Given the description of an element on the screen output the (x, y) to click on. 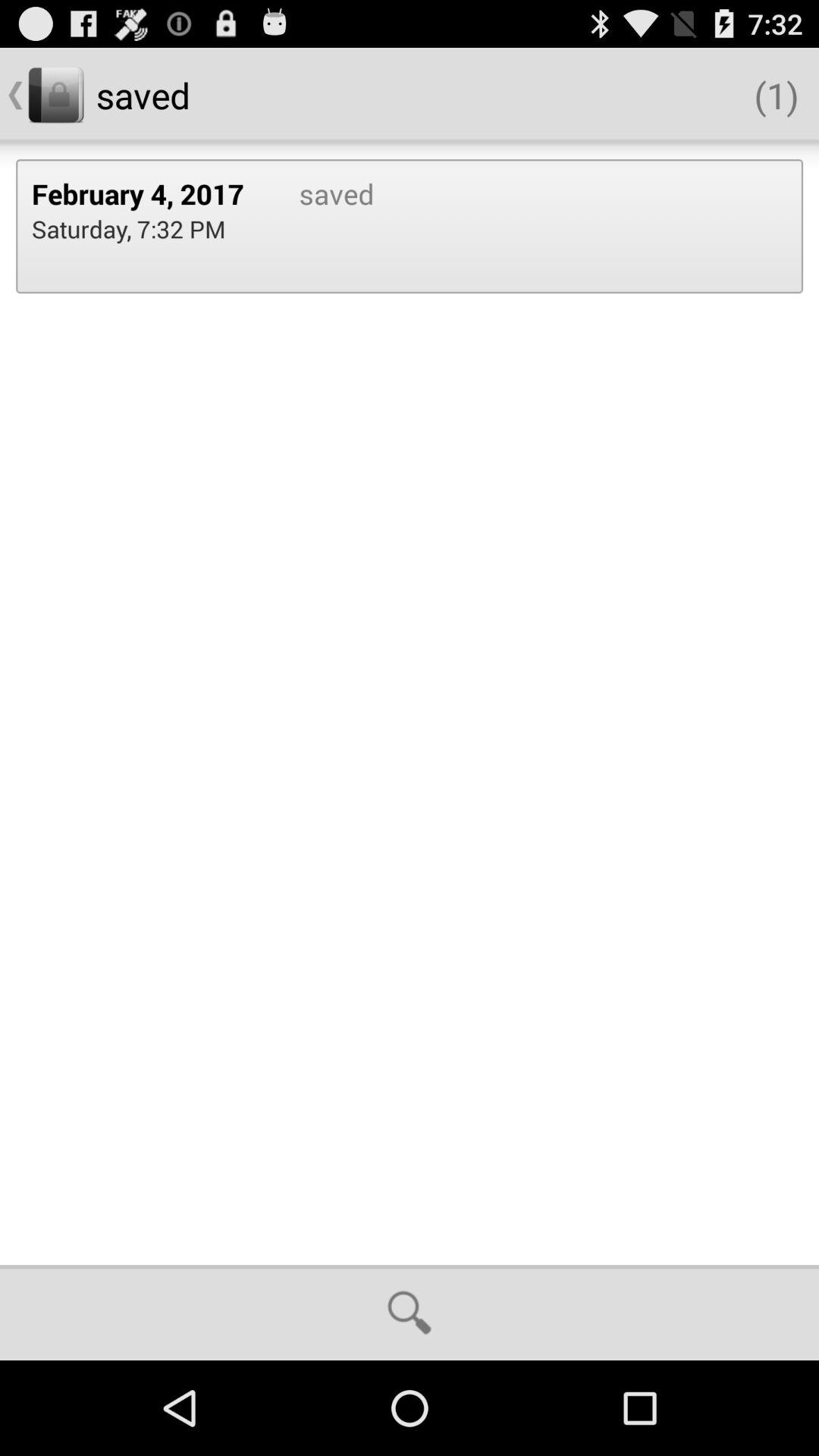
choose icon at the bottom (409, 1312)
